Given the description of an element on the screen output the (x, y) to click on. 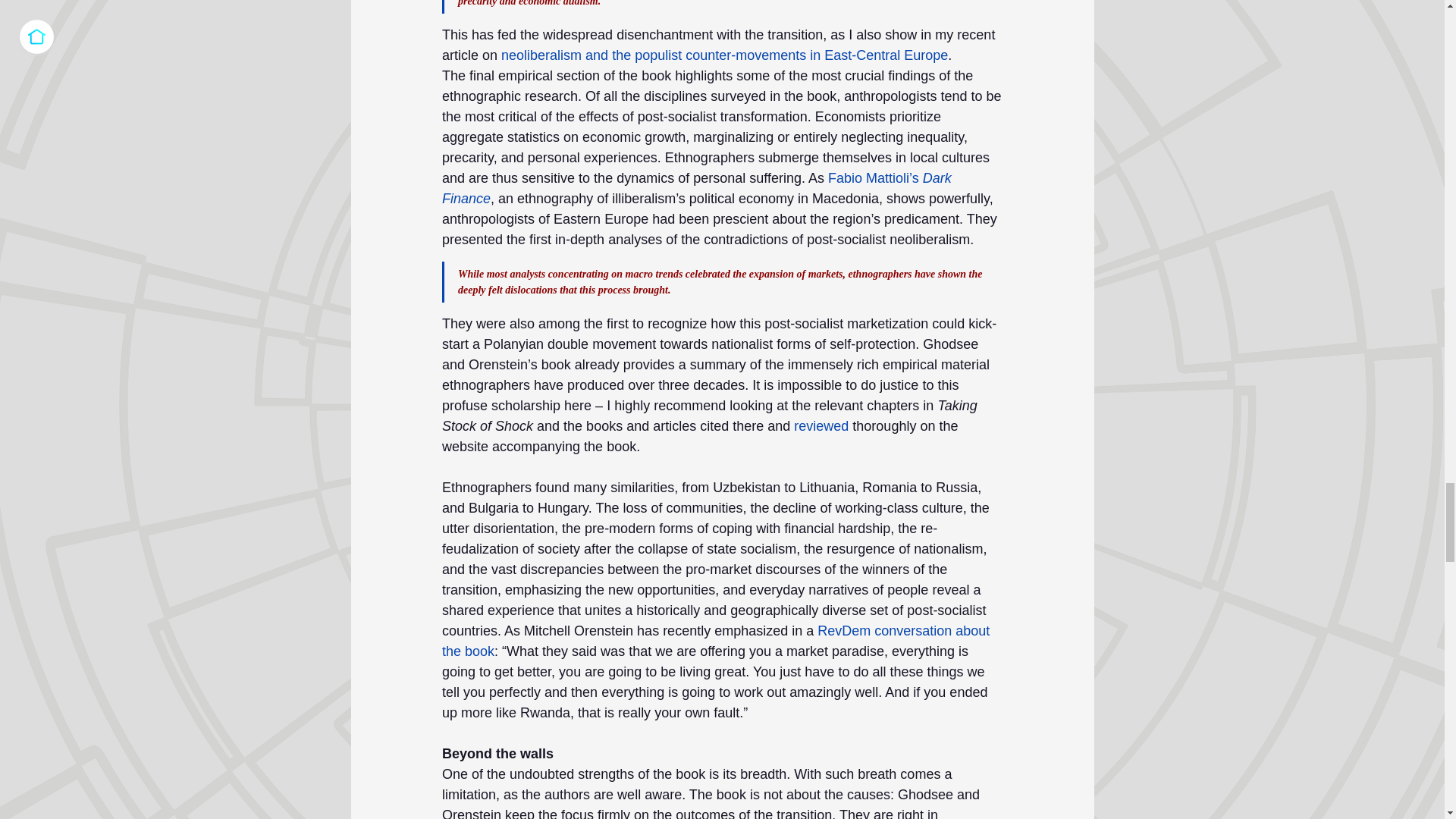
Dark Finance (698, 188)
reviewed (820, 426)
RevDem conversation about the book (716, 641)
